Given the description of an element on the screen output the (x, y) to click on. 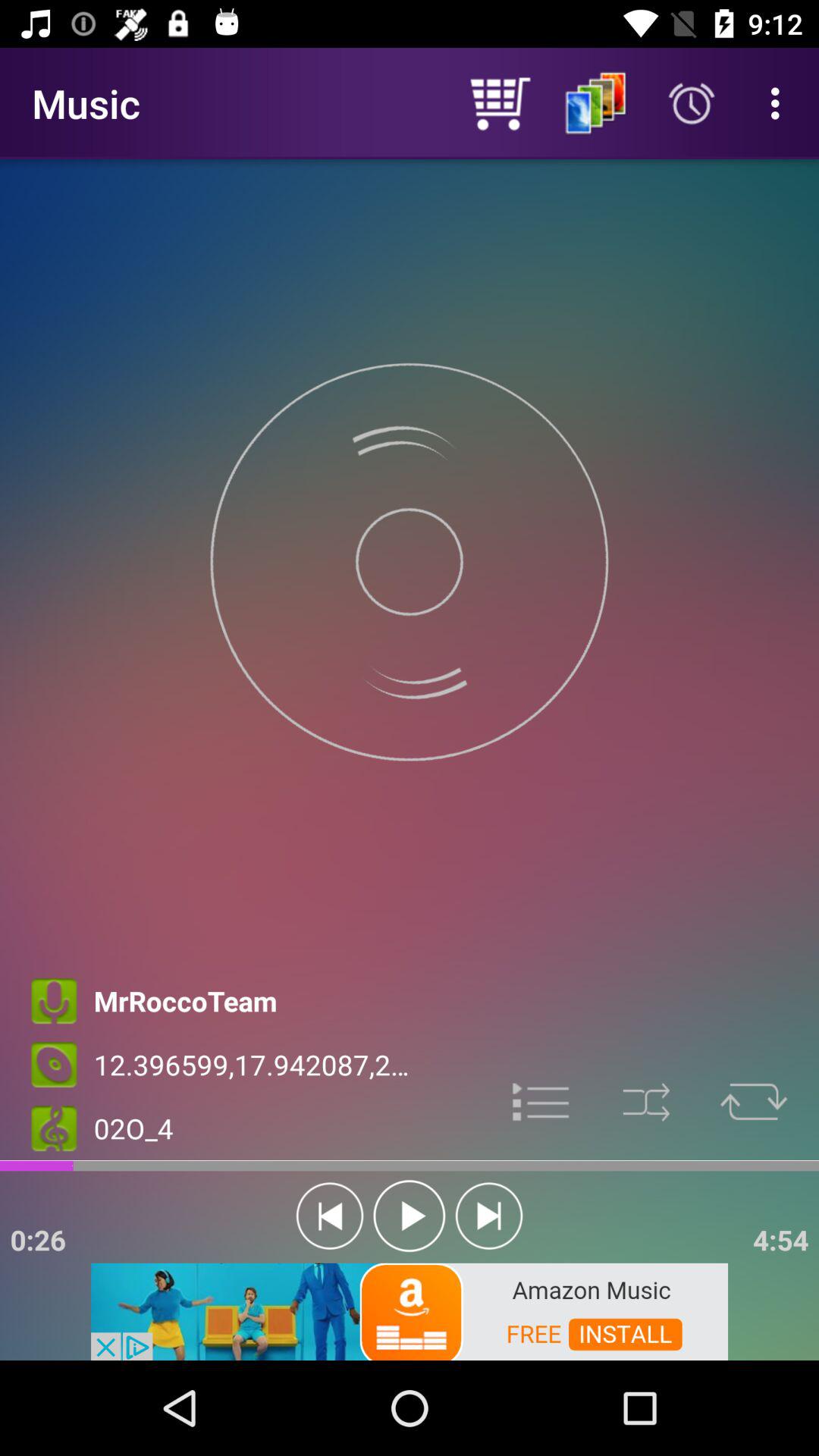
refresh (753, 1102)
